Given the description of an element on the screen output the (x, y) to click on. 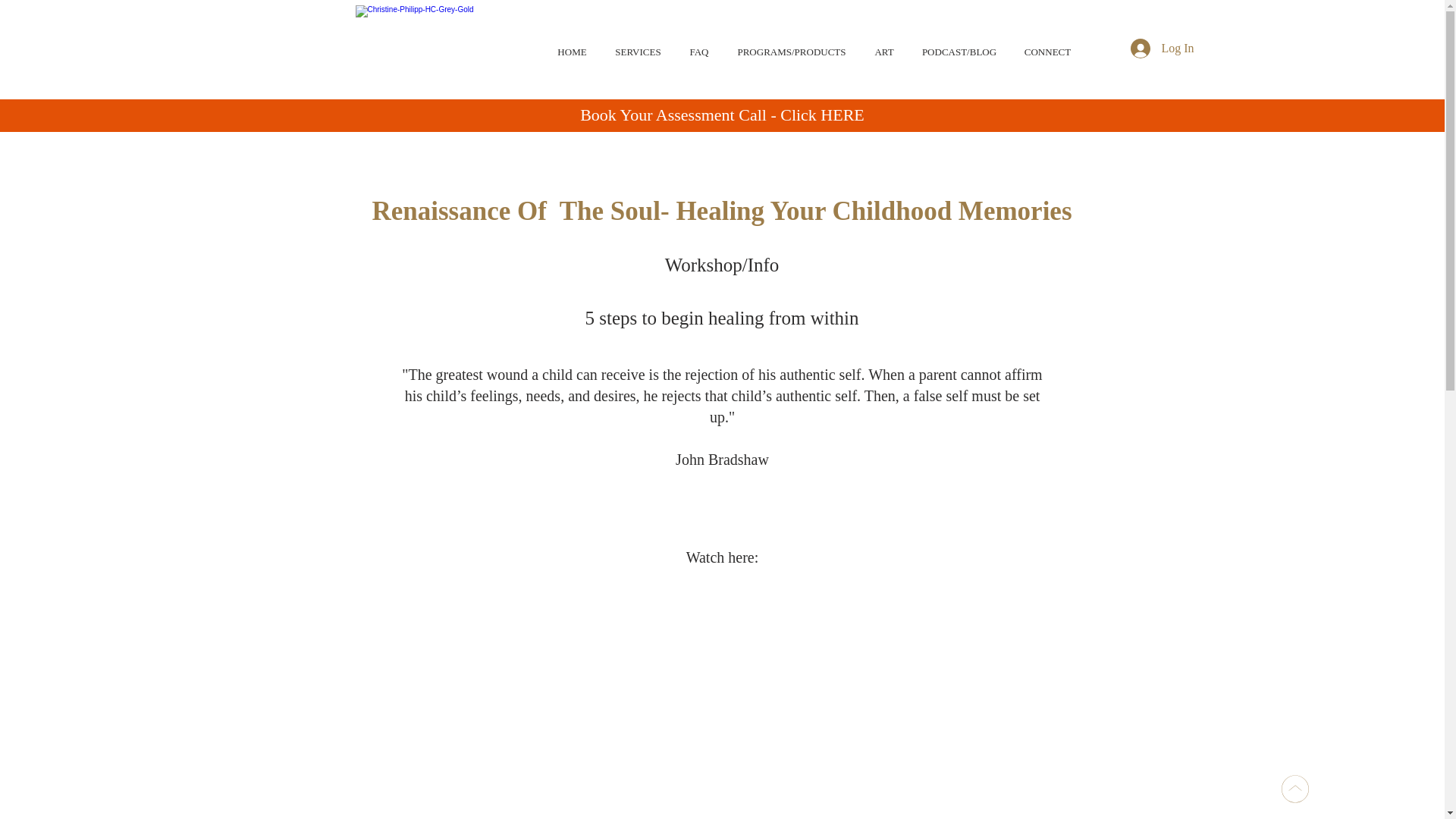
CONNECT (1047, 45)
HOME (571, 45)
SERVICES (637, 45)
FAQ (698, 45)
Log In (1161, 48)
Book Your Assessment Call - Click HERE (721, 115)
ART (883, 45)
